Given the description of an element on the screen output the (x, y) to click on. 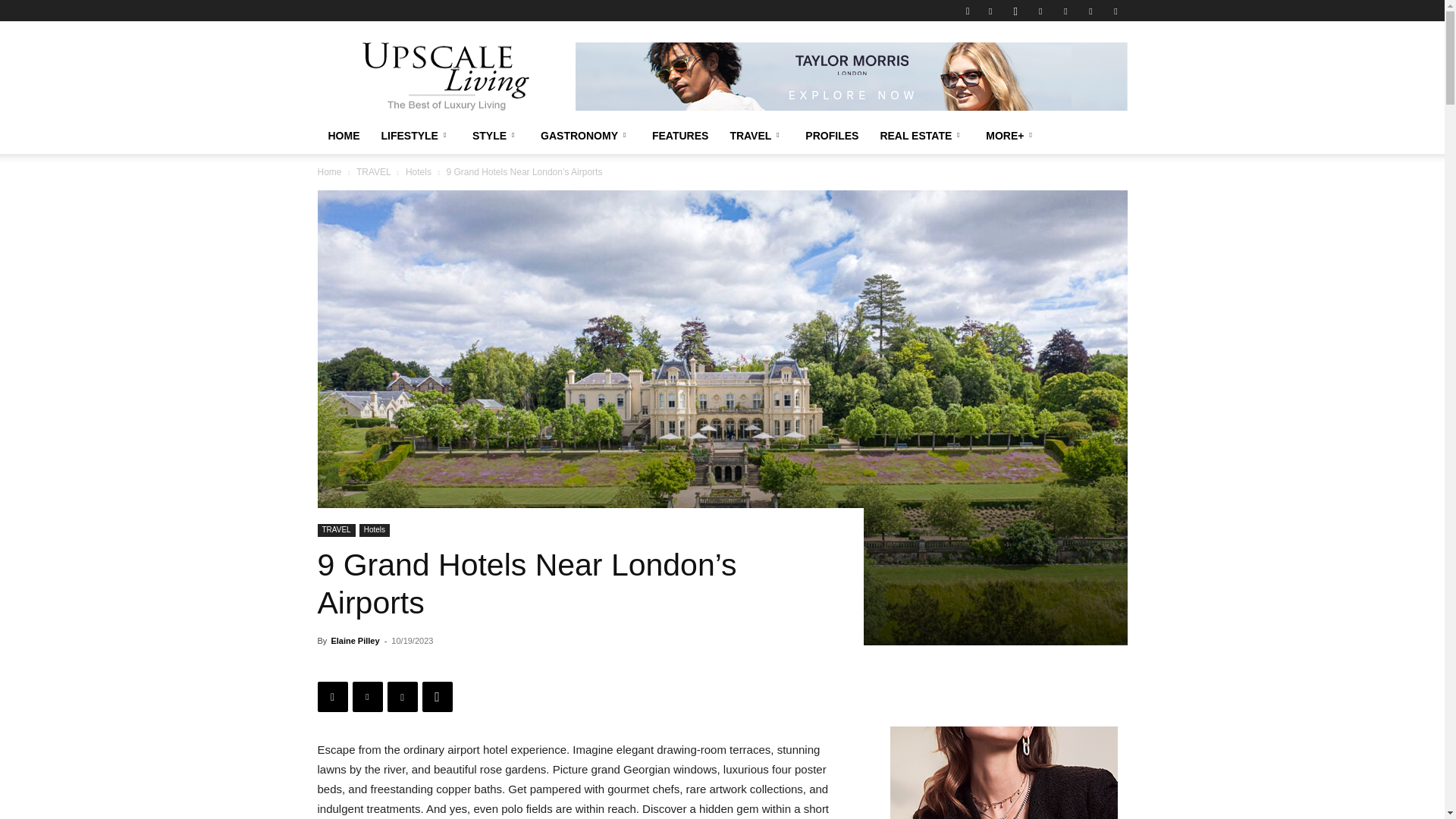
Pinterest (1065, 10)
Facebook (989, 10)
Linkedin (1040, 10)
Instagram (1015, 10)
